Given the description of an element on the screen output the (x, y) to click on. 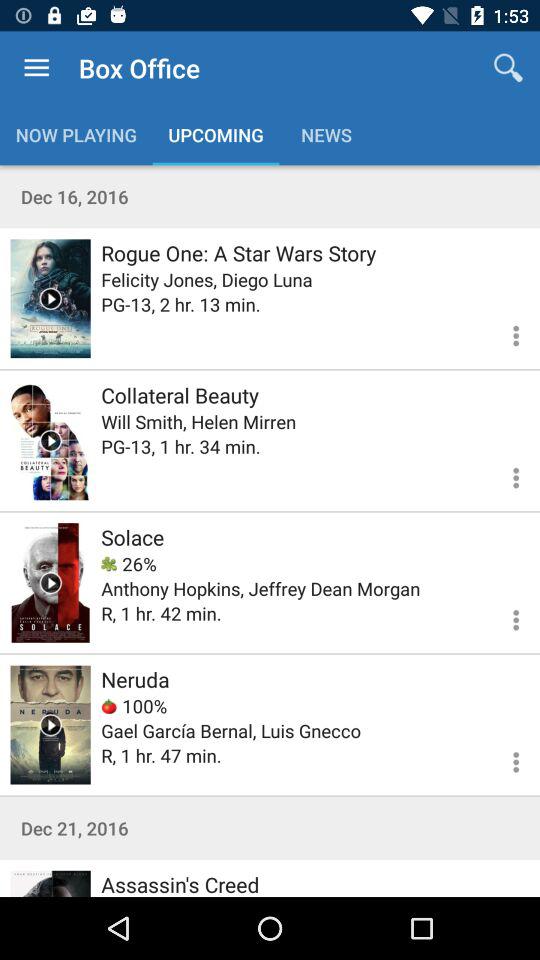
choose the icon above the felicity jones diego icon (238, 252)
